Given the description of an element on the screen output the (x, y) to click on. 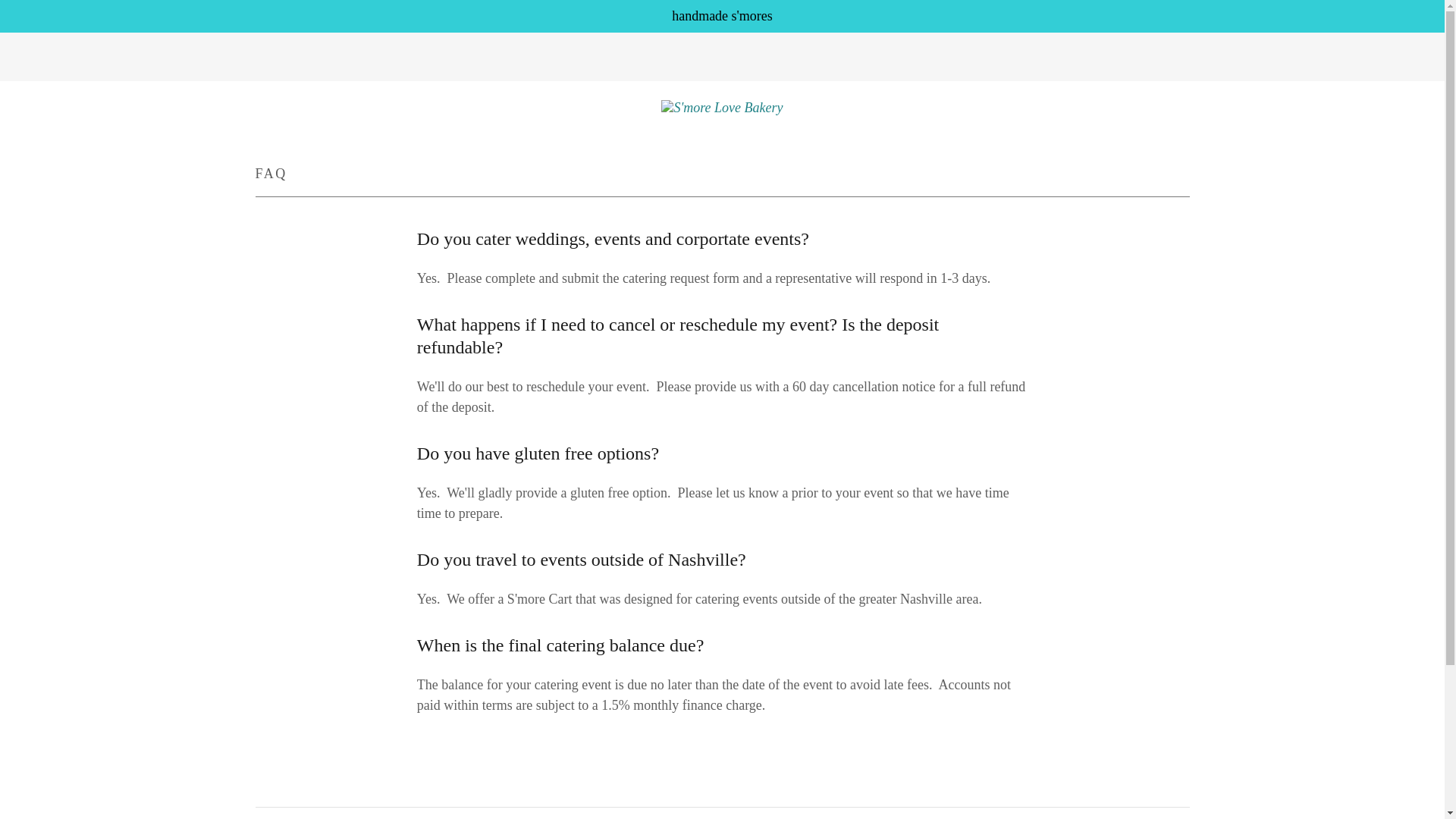
S'more Love Bakery (722, 106)
